Given the description of an element on the screen output the (x, y) to click on. 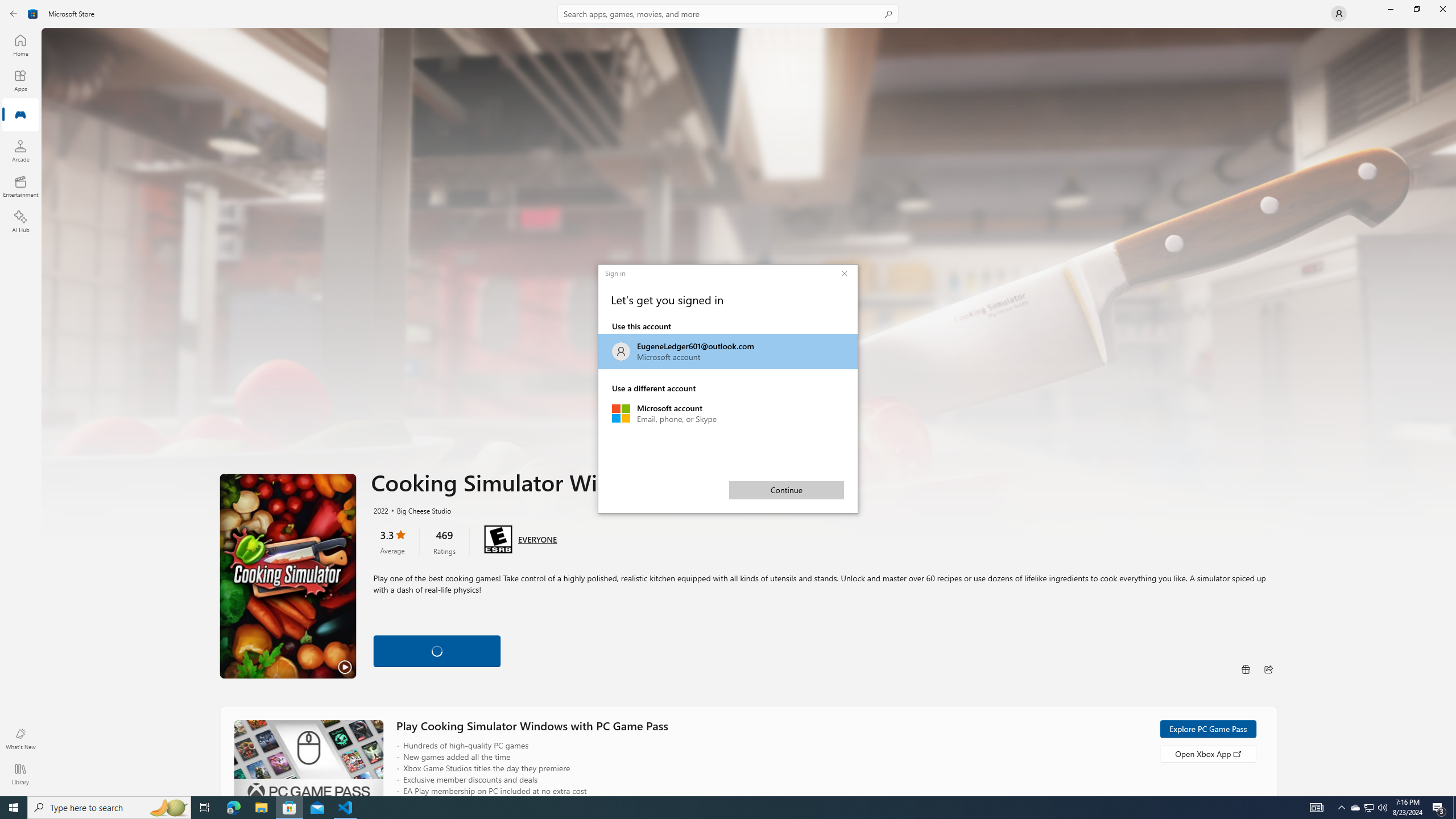
What's New (20, 738)
Microsoft Store - 1 running window (289, 807)
Restore Microsoft Store (1416, 9)
Close Microsoft Store (1368, 807)
Share (1442, 9)
Vertical Large Decrease (1355, 807)
Buy as gift (1267, 669)
